Given the description of an element on the screen output the (x, y) to click on. 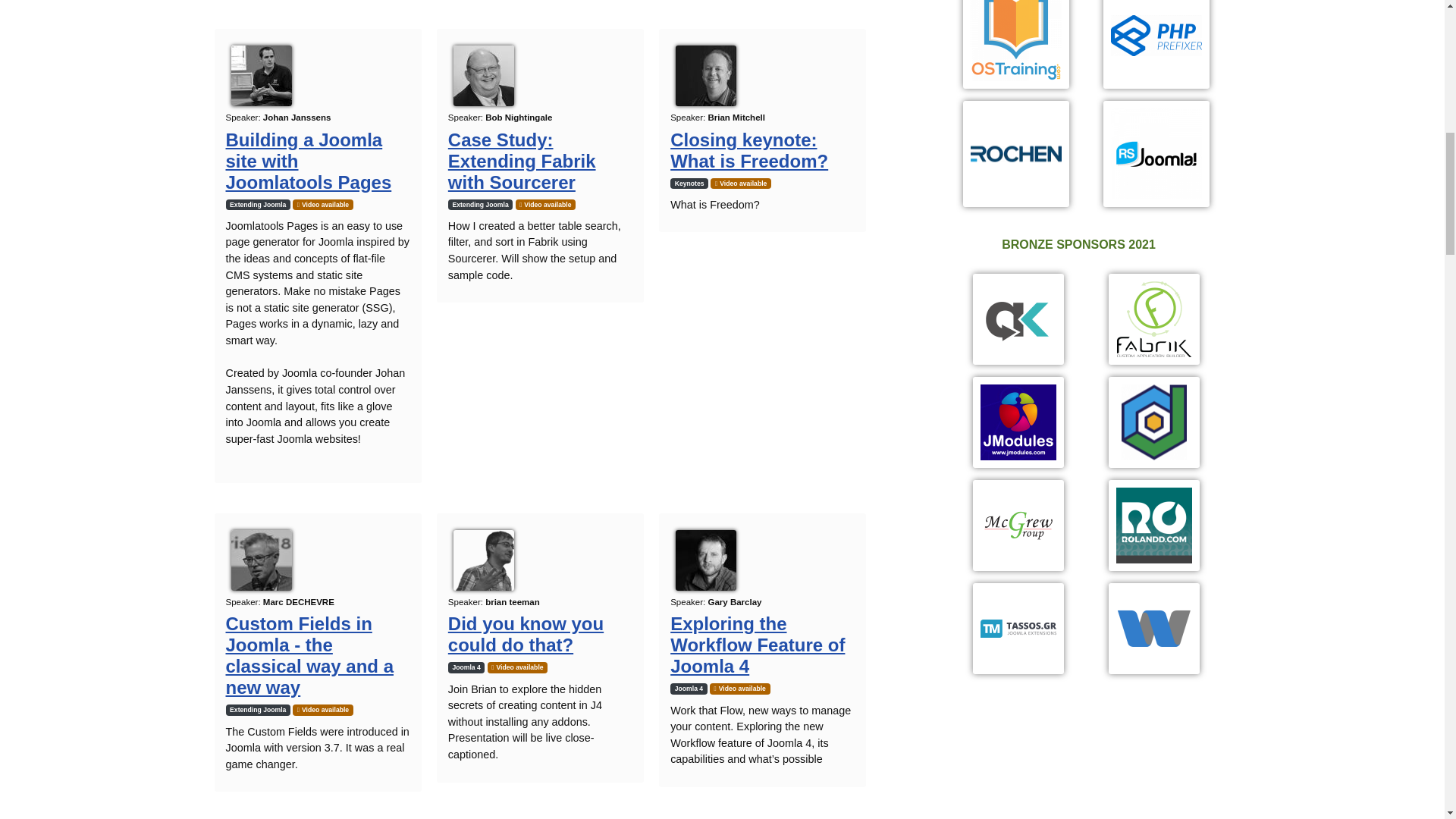
Closing keynote: What is Freedom? (748, 150)
Custom Fields in Joomla - the classical way and a new way (309, 655)
Exploring the Workflow Feature of Joomla 4 (756, 644)
Building a Joomla site with Joomlatools Pages (308, 160)
Case Study: Extending Fabrik with Sourcerer (521, 160)
Did you know you could do that? (526, 634)
